Given the description of an element on the screen output the (x, y) to click on. 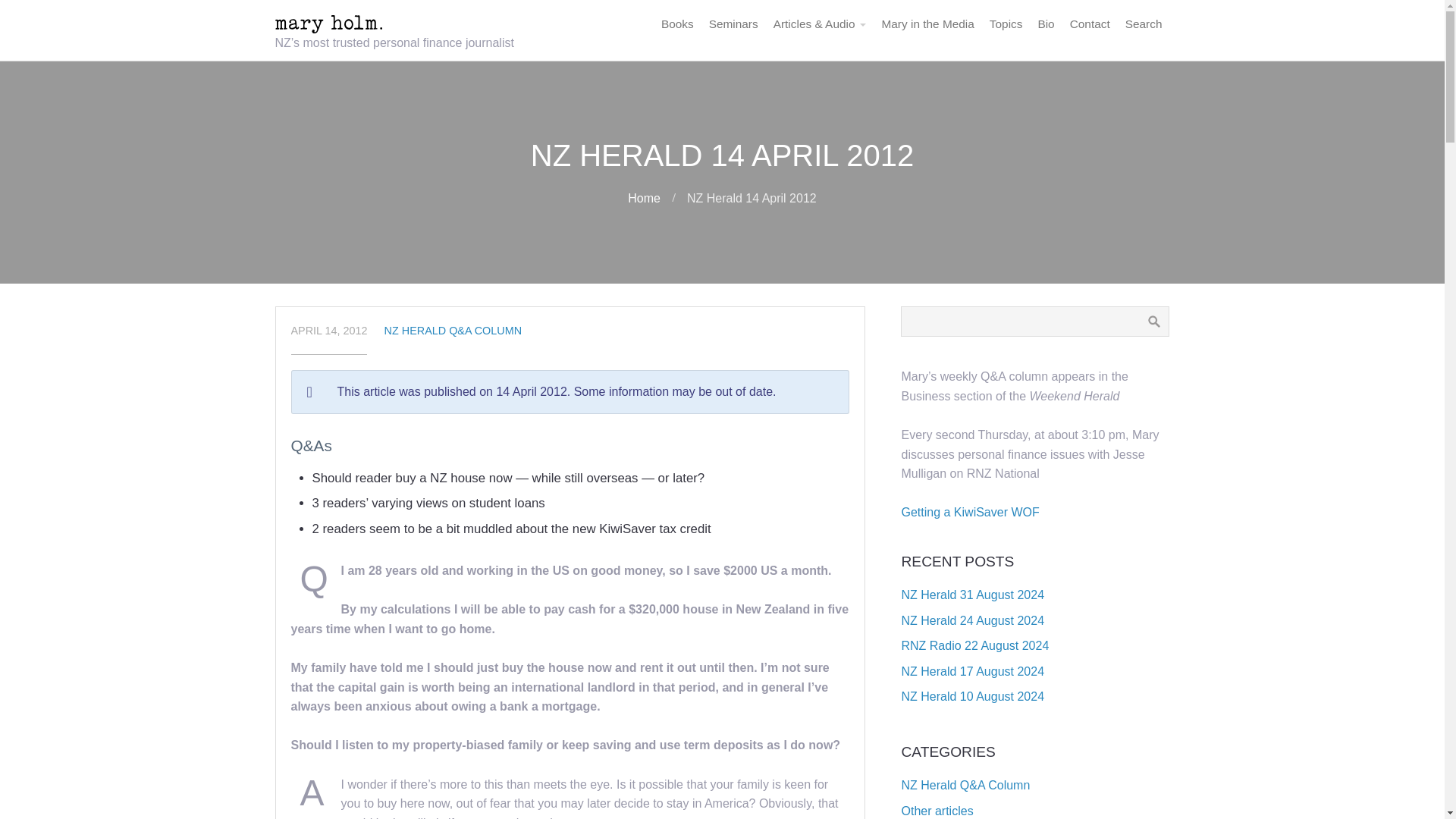
Mary in the Media (927, 24)
Contact (1090, 24)
Seminars (733, 24)
NZ Herald 31 August 2024 (972, 594)
NZ Herald 24 August 2024 (972, 620)
Search (1144, 24)
RNZ Radio 22 August 2024 (974, 645)
Home (644, 197)
NZ Herald 17 August 2024 (972, 671)
Search (1144, 24)
